Given the description of an element on the screen output the (x, y) to click on. 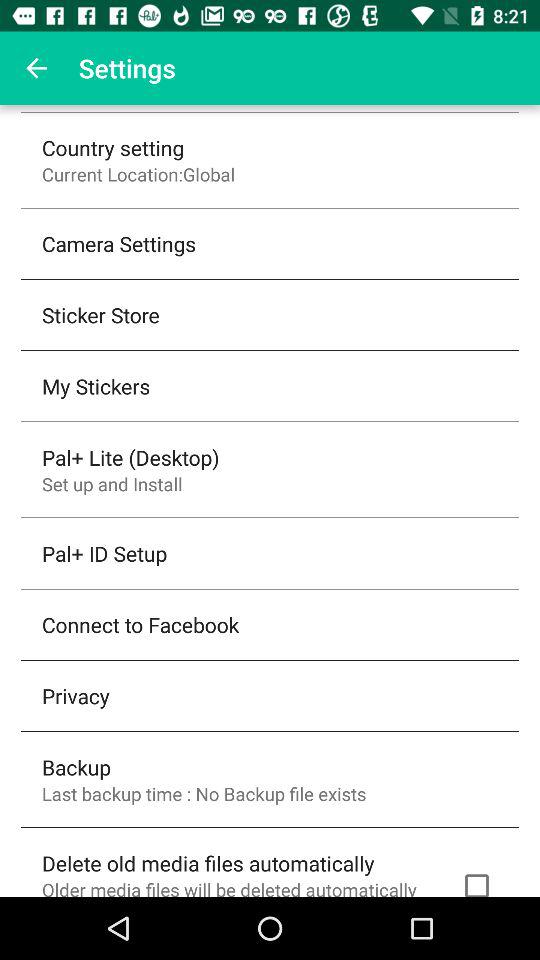
turn off the item next to settings icon (36, 68)
